Given the description of an element on the screen output the (x, y) to click on. 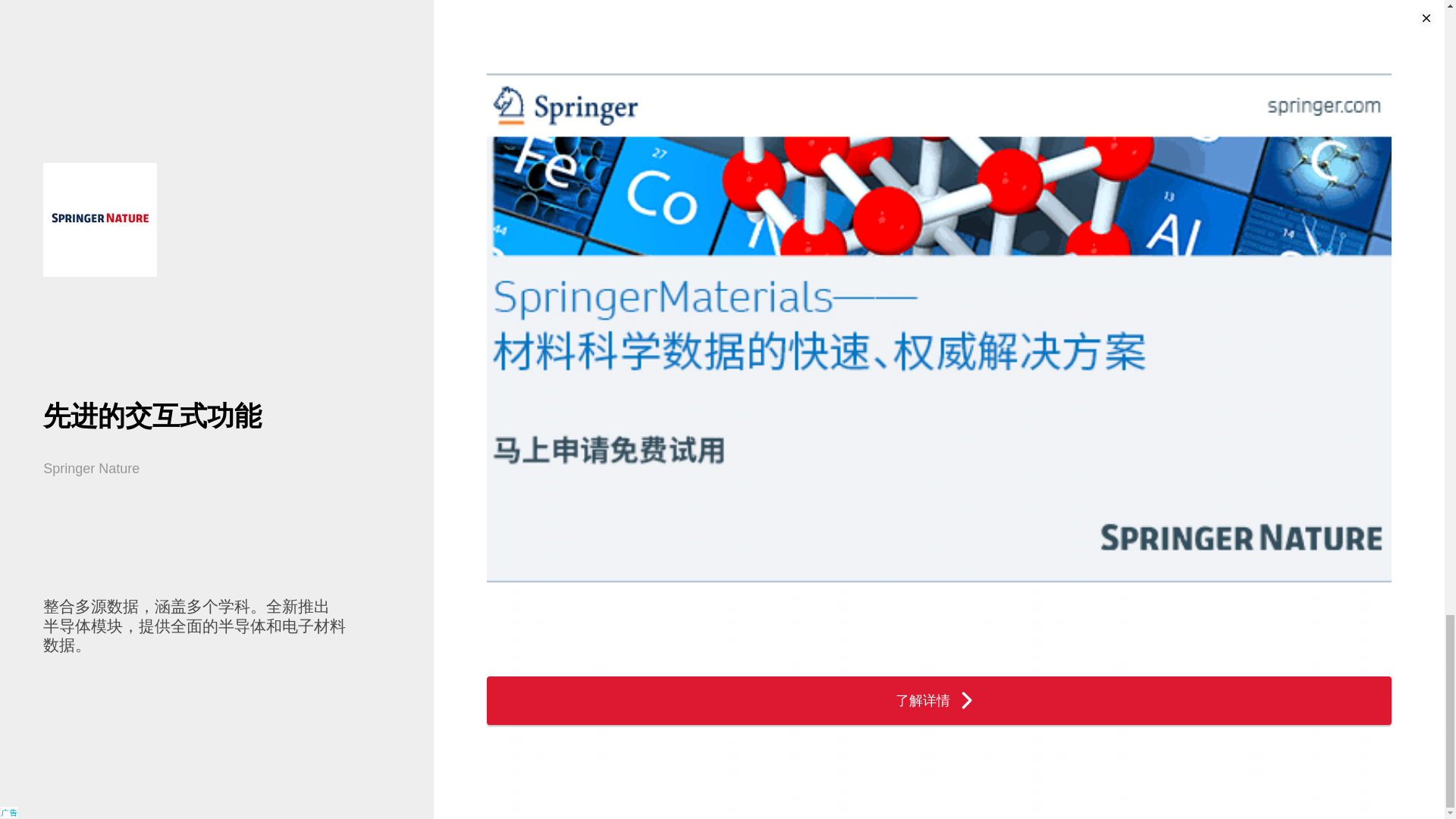
Subscribe (1067, 536)
